Given the description of an element on the screen output the (x, y) to click on. 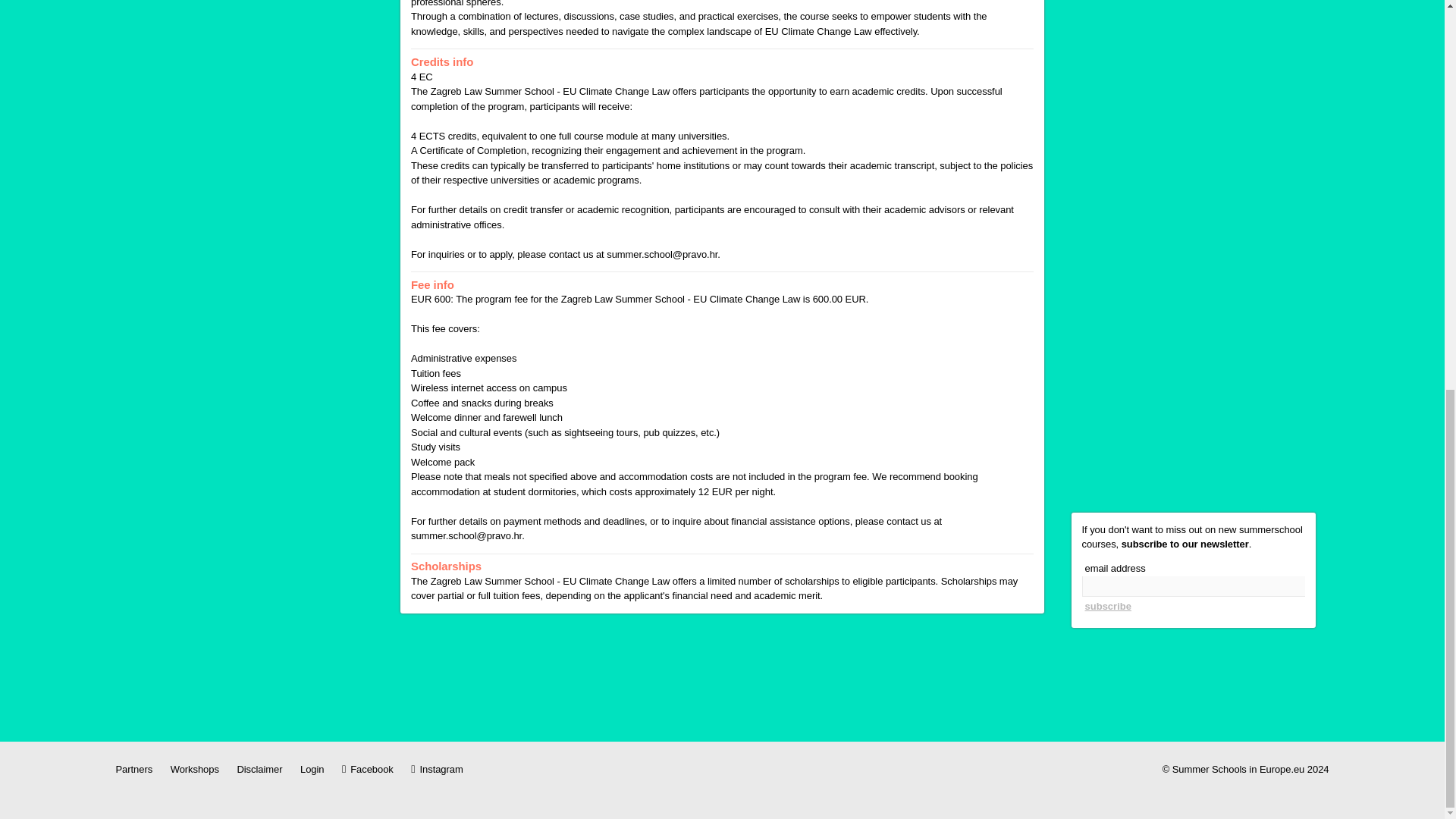
Login (311, 768)
subscribe (1107, 607)
subscribe (1107, 607)
Instagram (436, 768)
Facebook (367, 768)
Partners (133, 768)
Disclaimer (258, 768)
Workshops (194, 768)
